Given the description of an element on the screen output the (x, y) to click on. 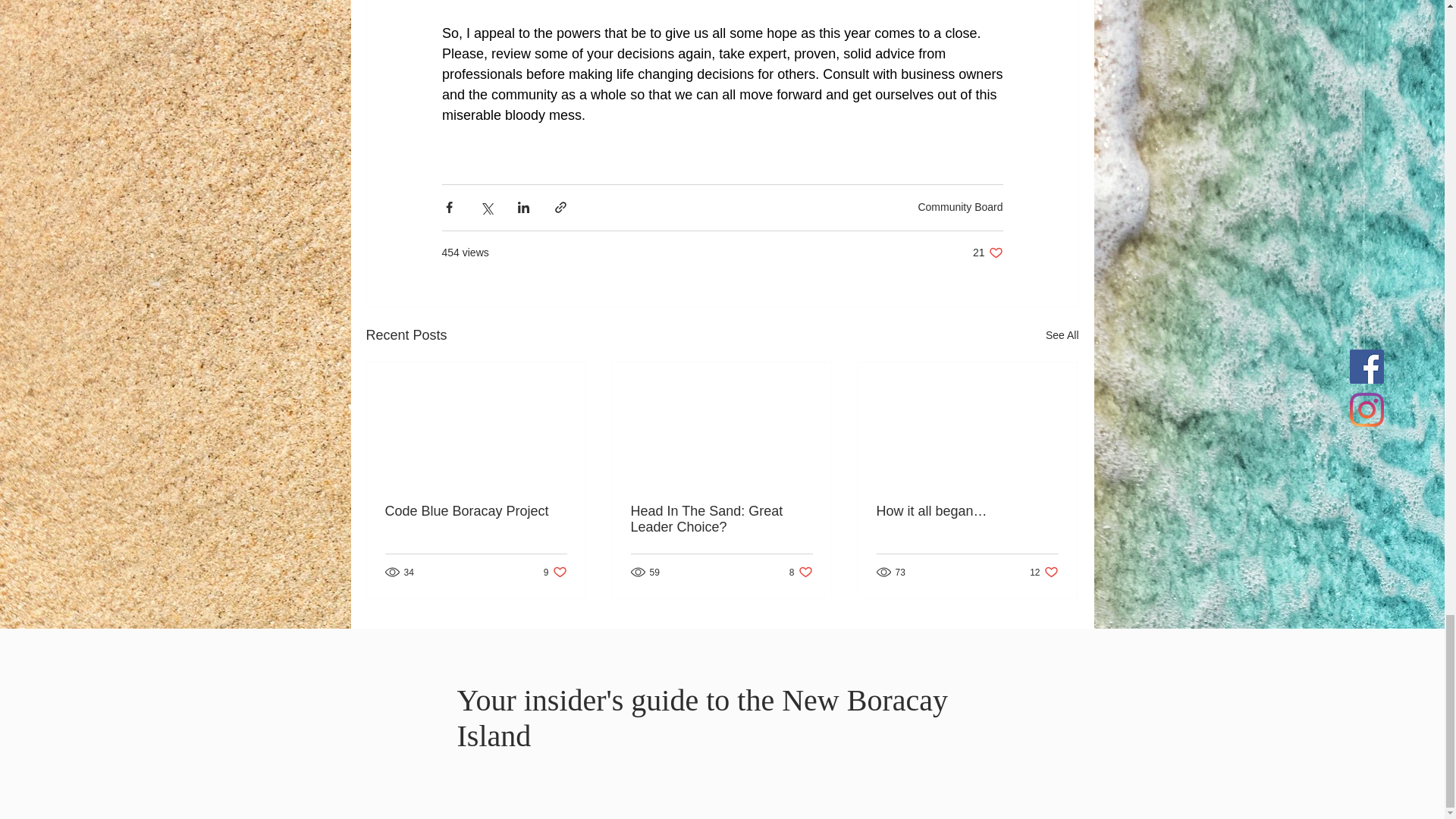
See All (1061, 334)
Code Blue Boracay Project (1043, 572)
Community Board (987, 251)
Head In The Sand: Great Leader Choice? (476, 510)
